Given the description of an element on the screen output the (x, y) to click on. 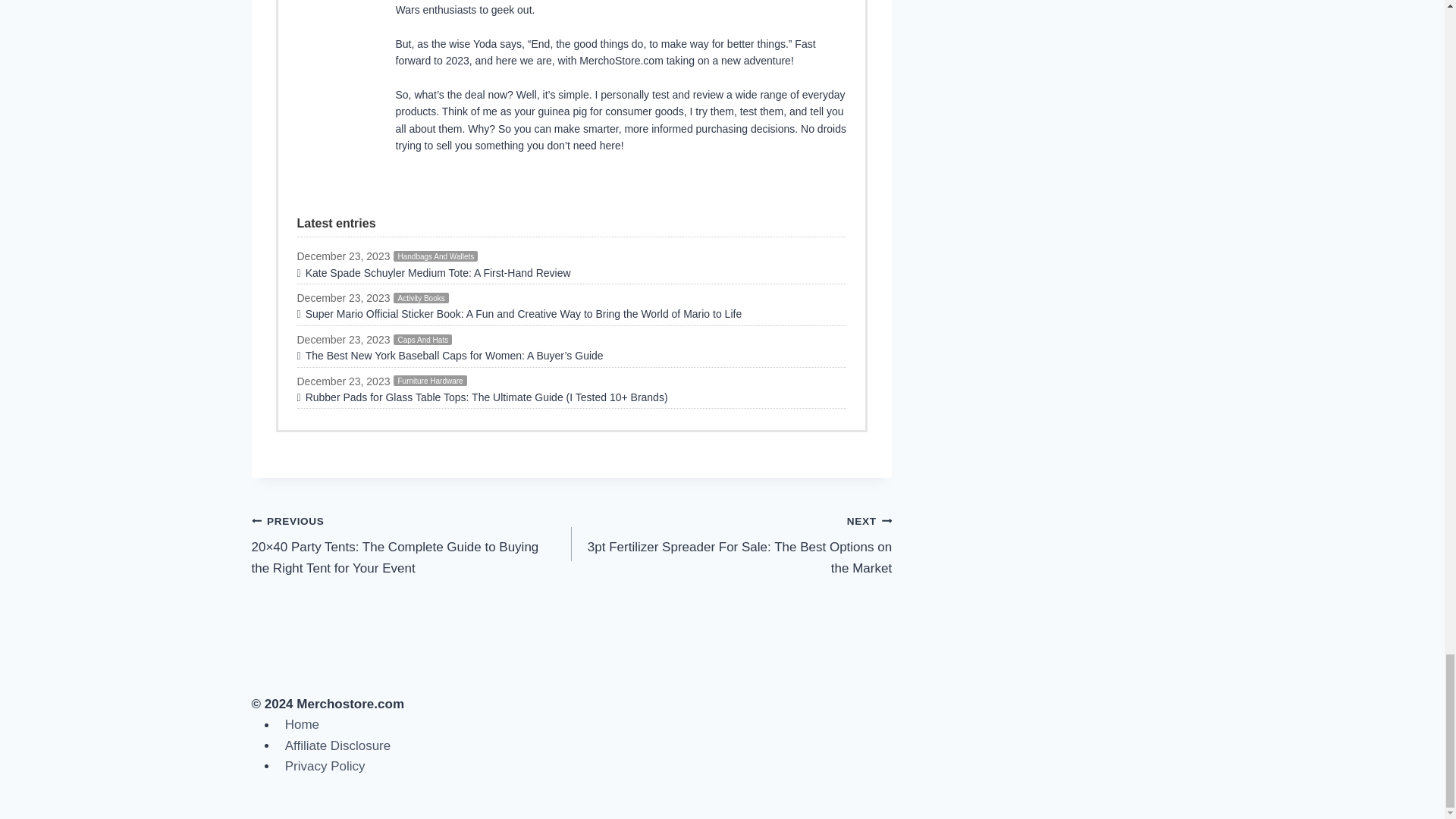
Handbags And Wallets (435, 255)
Caps And Hats (422, 339)
Activity Books (420, 297)
Kate Spade Schuyler Medium Tote: A First-Hand Review (572, 272)
Furniture Hardware (429, 380)
